Given the description of an element on the screen output the (x, y) to click on. 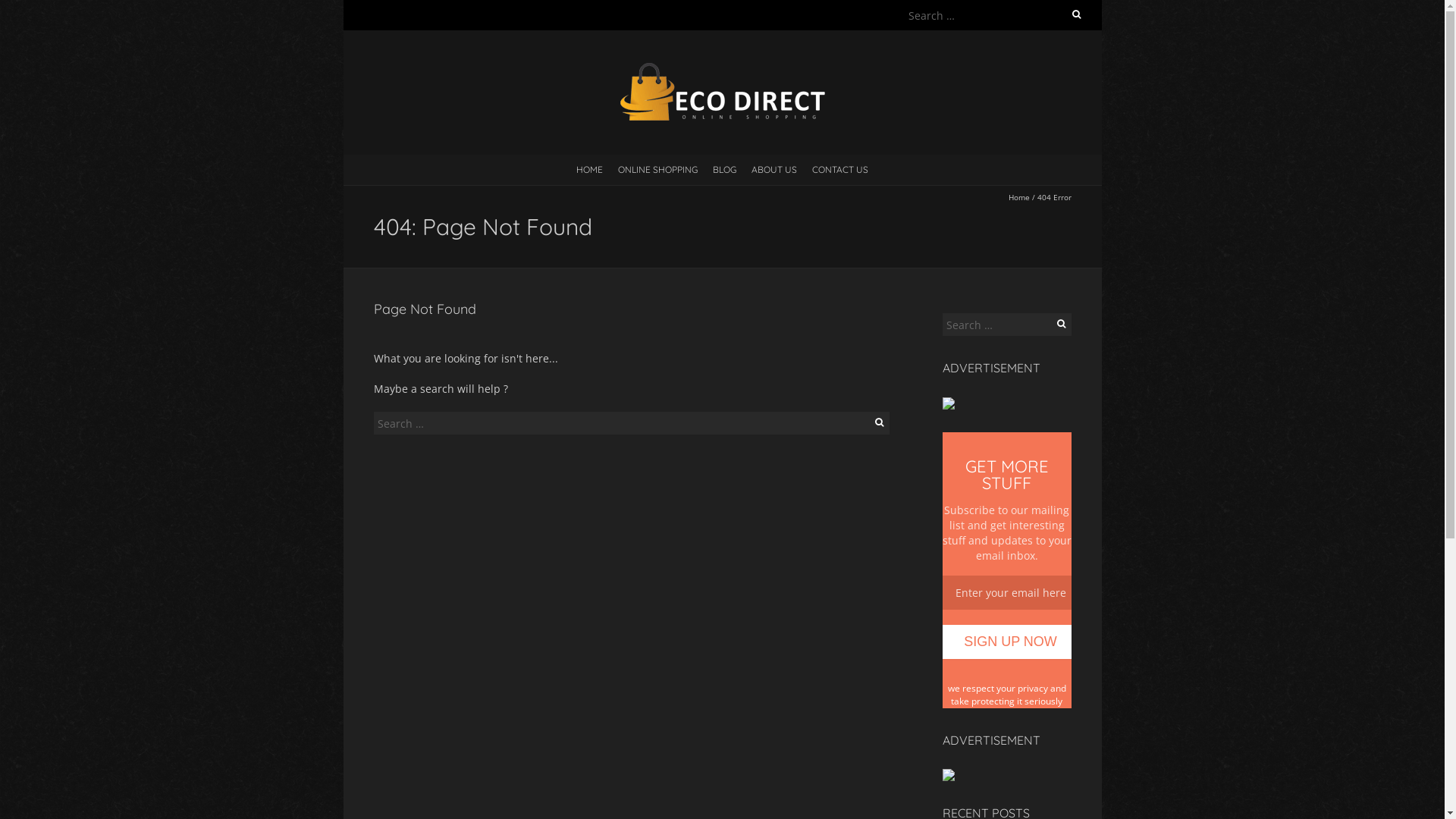
BLOG Element type: text (724, 168)
Search Element type: text (28, 9)
HOME Element type: text (589, 168)
CONTACT US Element type: text (839, 168)
Sign Up Now Element type: text (1005, 641)
ONLINE SHOPPING Element type: text (657, 168)
ABOUT US Element type: text (773, 168)
Eco Direct Element type: hover (721, 67)
Home Element type: text (1018, 196)
